Given the description of an element on the screen output the (x, y) to click on. 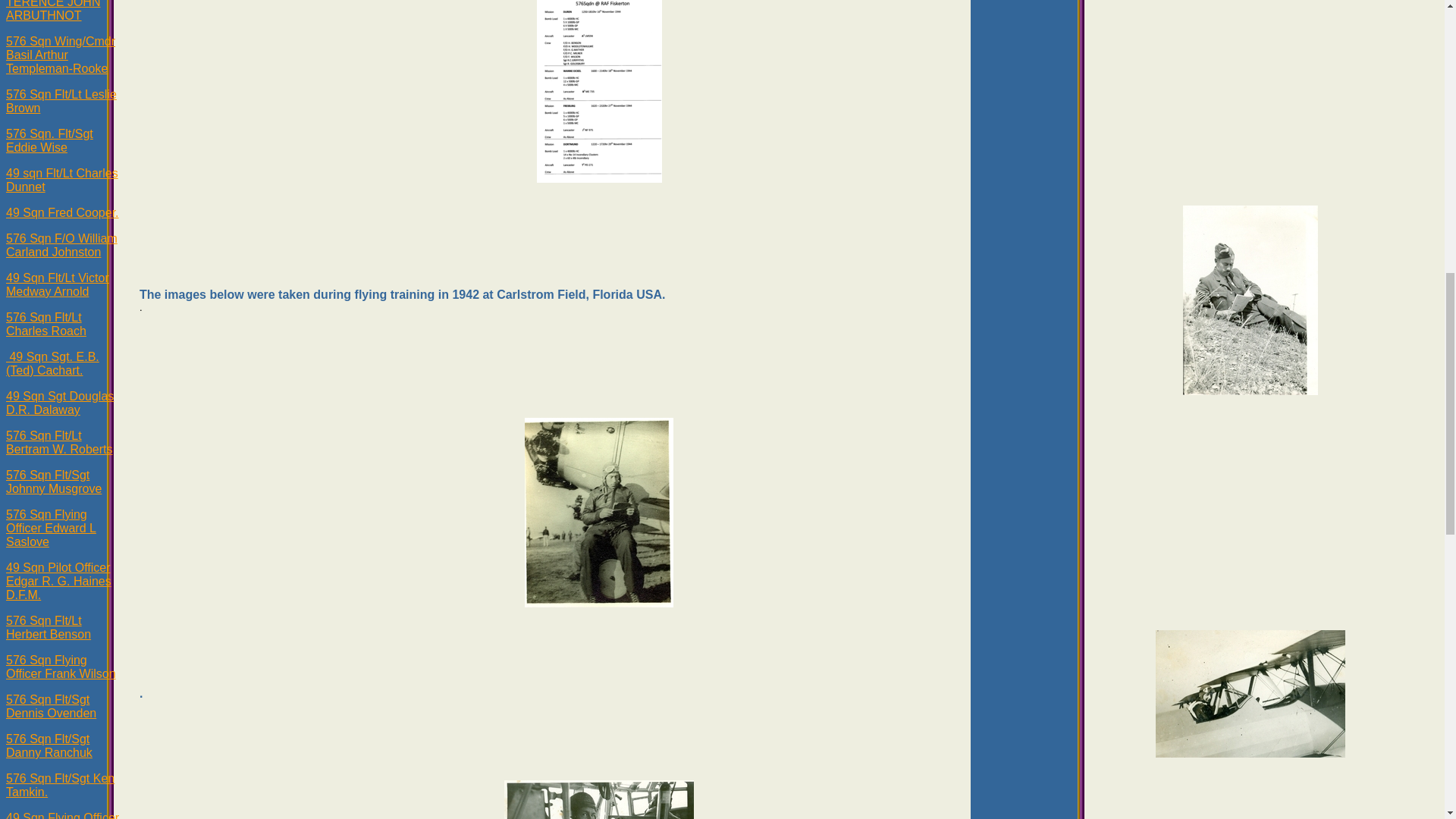
49 Sqn Fred Cooper. (62, 212)
GROUP CAPTAIN TERENCE JOHN ARBUTHNOT (54, 11)
49 Sqn Sgt Douglas D.R. Dalaway (59, 402)
576 Sqn Flying Officer Frank Wilson (60, 666)
49 Sqn Pilot Officer Edgar R. G. Haines D.F.M. (58, 581)
576 Sqn Flying Officer Edward L Saslove (50, 527)
